Given the description of an element on the screen output the (x, y) to click on. 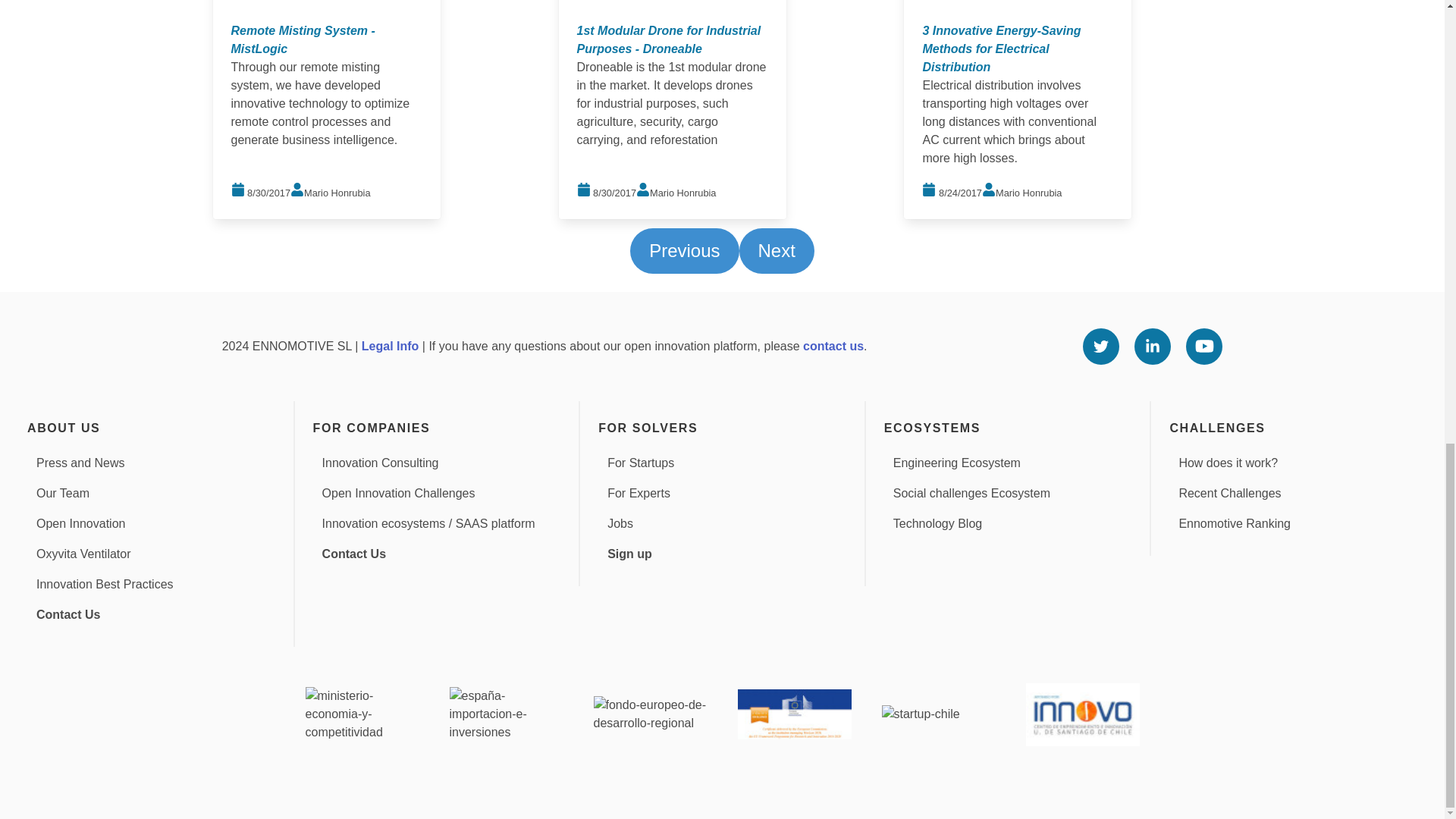
Legal Info (390, 345)
Next (775, 250)
Previous (684, 250)
1st Modular Drone for Industrial Purposes - Droneable (668, 39)
Remote Misting System - MistLogic (303, 39)
contact us (833, 345)
